Given the description of an element on the screen output the (x, y) to click on. 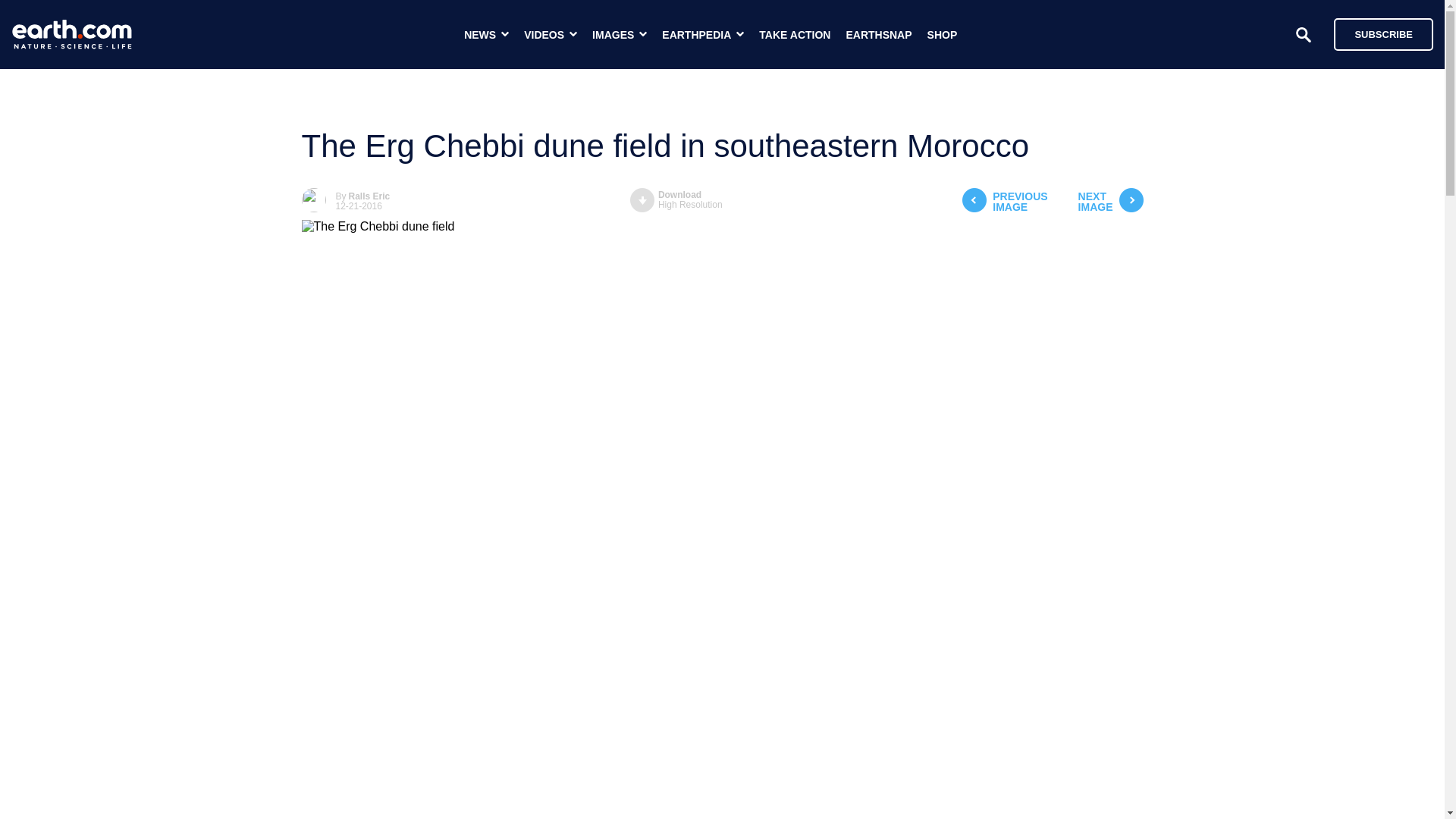
SHOP (942, 34)
TAKE ACTION (793, 34)
Ralls Eric (1004, 201)
EARTHSNAP (1110, 201)
SUBSCRIBE (369, 195)
